Given the description of an element on the screen output the (x, y) to click on. 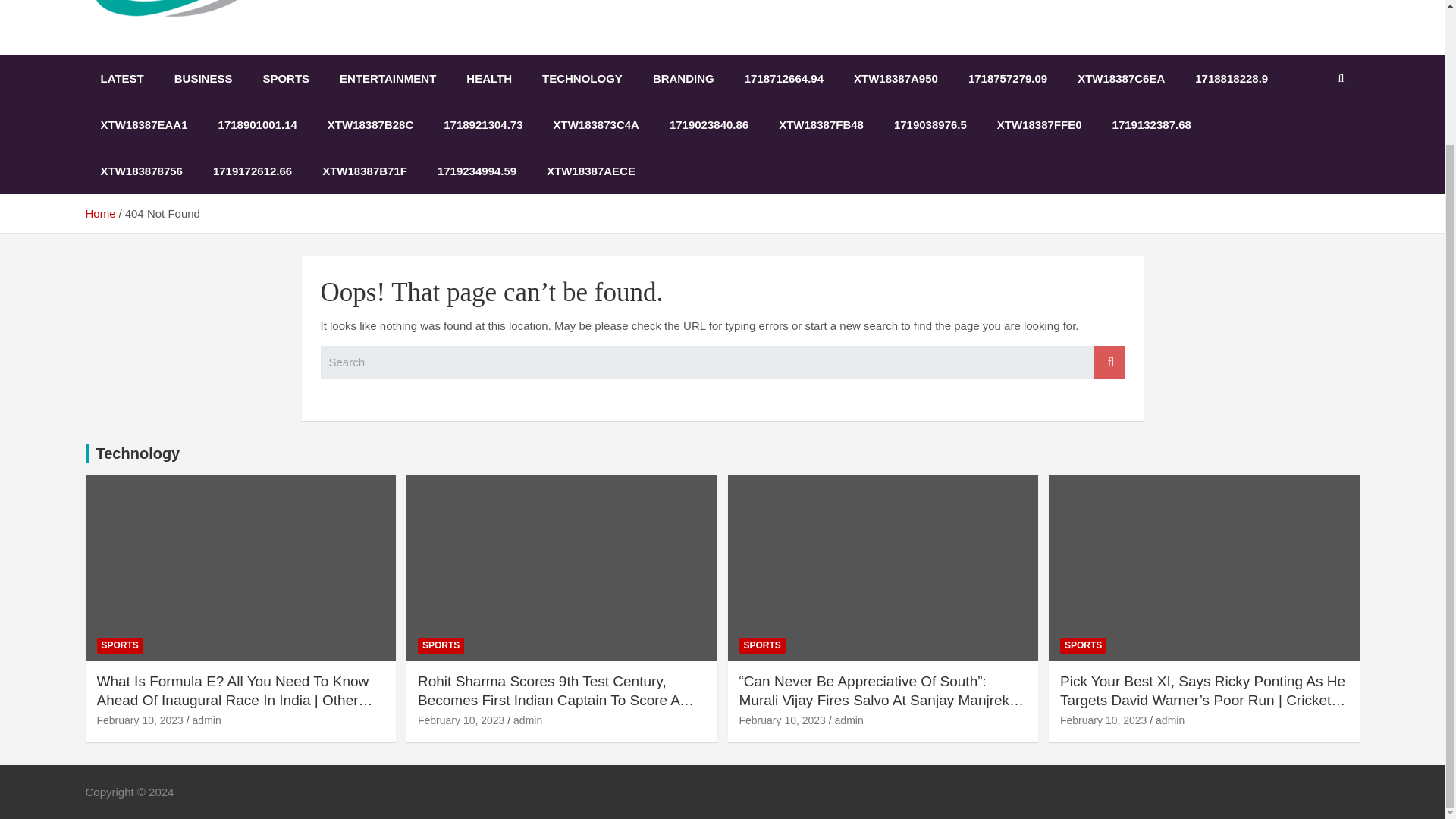
LATEST (121, 78)
XTW18387FB48 (820, 124)
XTW183873C4A (595, 124)
1718712664.94 (783, 78)
1718757279.09 (1007, 78)
1719132387.68 (1152, 124)
SPORTS (119, 645)
XTW18387AECE (590, 171)
BUSINESS (202, 78)
TECHNOLOGY (582, 78)
